Given the description of an element on the screen output the (x, y) to click on. 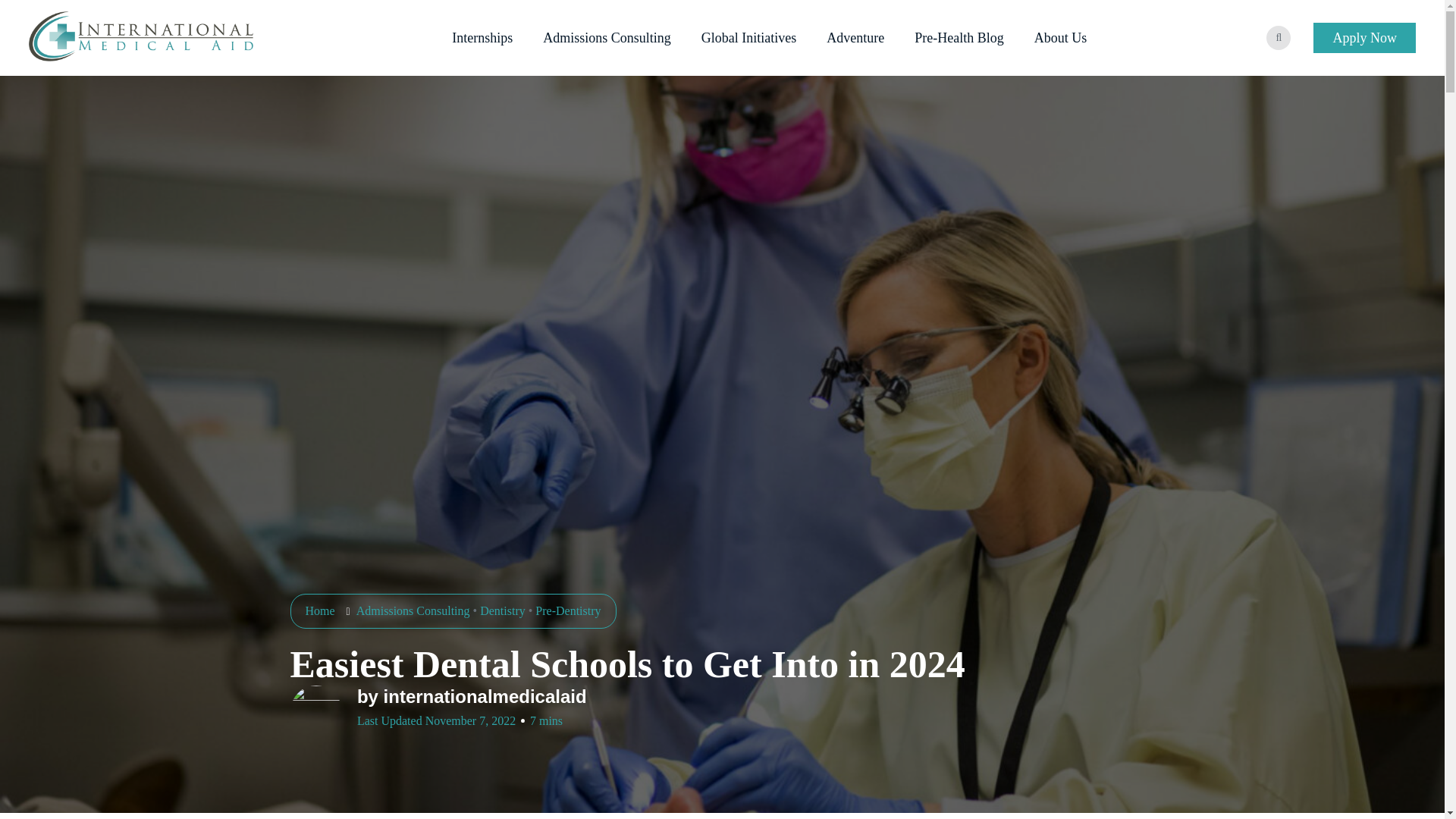
Pre-Health Blog (958, 37)
Admissions Consulting (607, 37)
Internships (481, 37)
Adventure (855, 37)
Global Initiatives (748, 37)
